Given the description of an element on the screen output the (x, y) to click on. 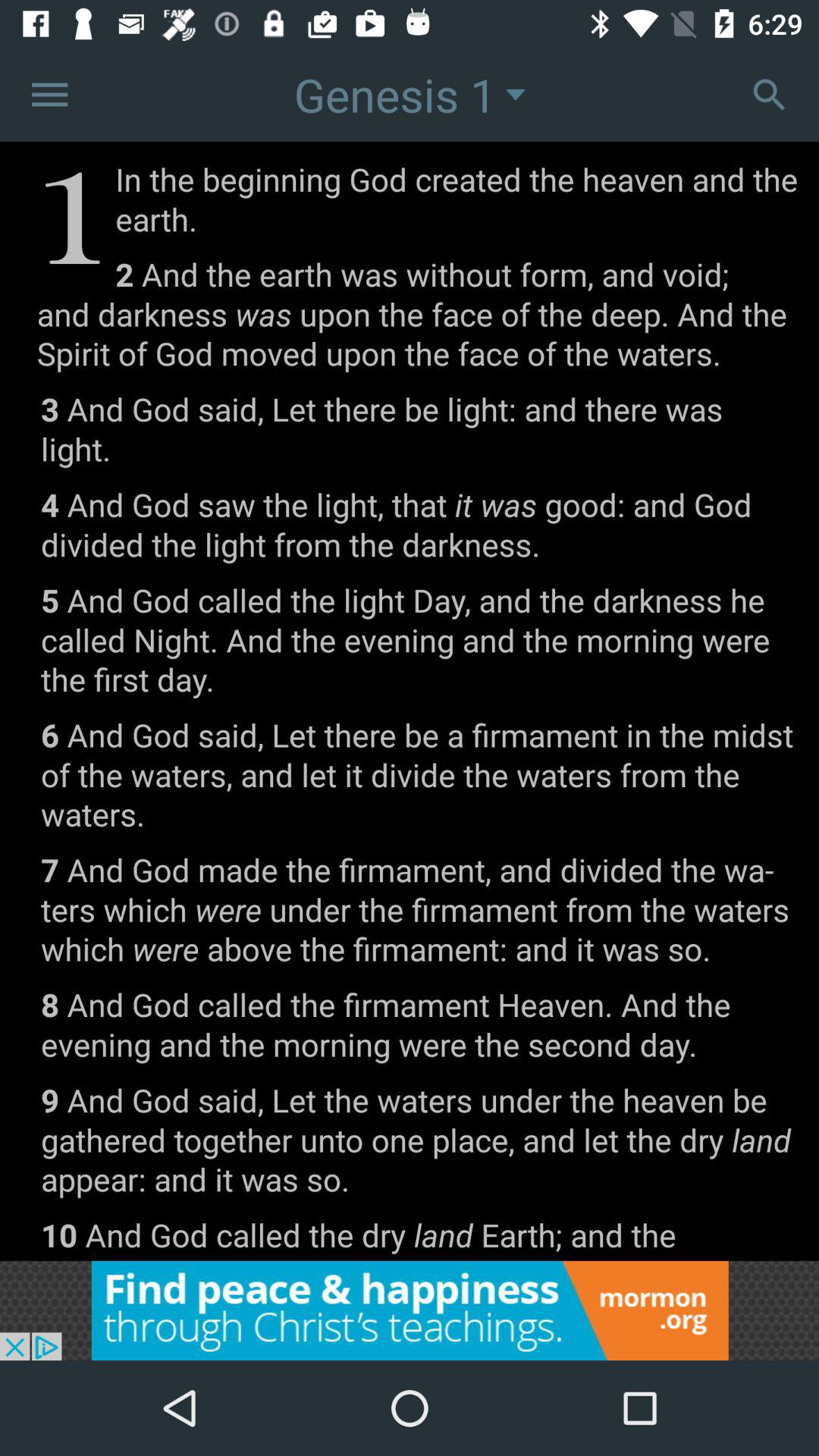
settings option (769, 94)
